Given the description of an element on the screen output the (x, y) to click on. 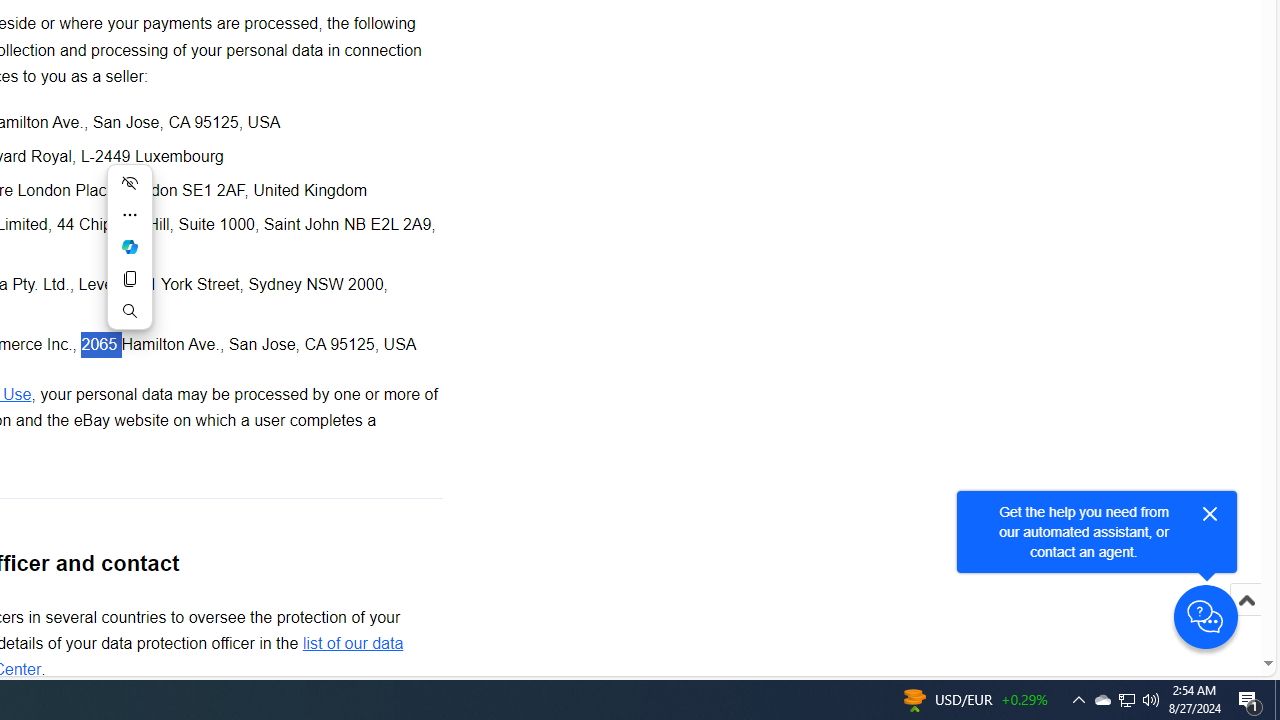
Scroll to top (1246, 620)
More actions (129, 214)
Hide menu (129, 182)
Copy (129, 278)
Mini menu on text selection (129, 246)
Mini menu on text selection (129, 259)
Ask Copilot (129, 246)
Scroll to top (1246, 599)
